Given the description of an element on the screen output the (x, y) to click on. 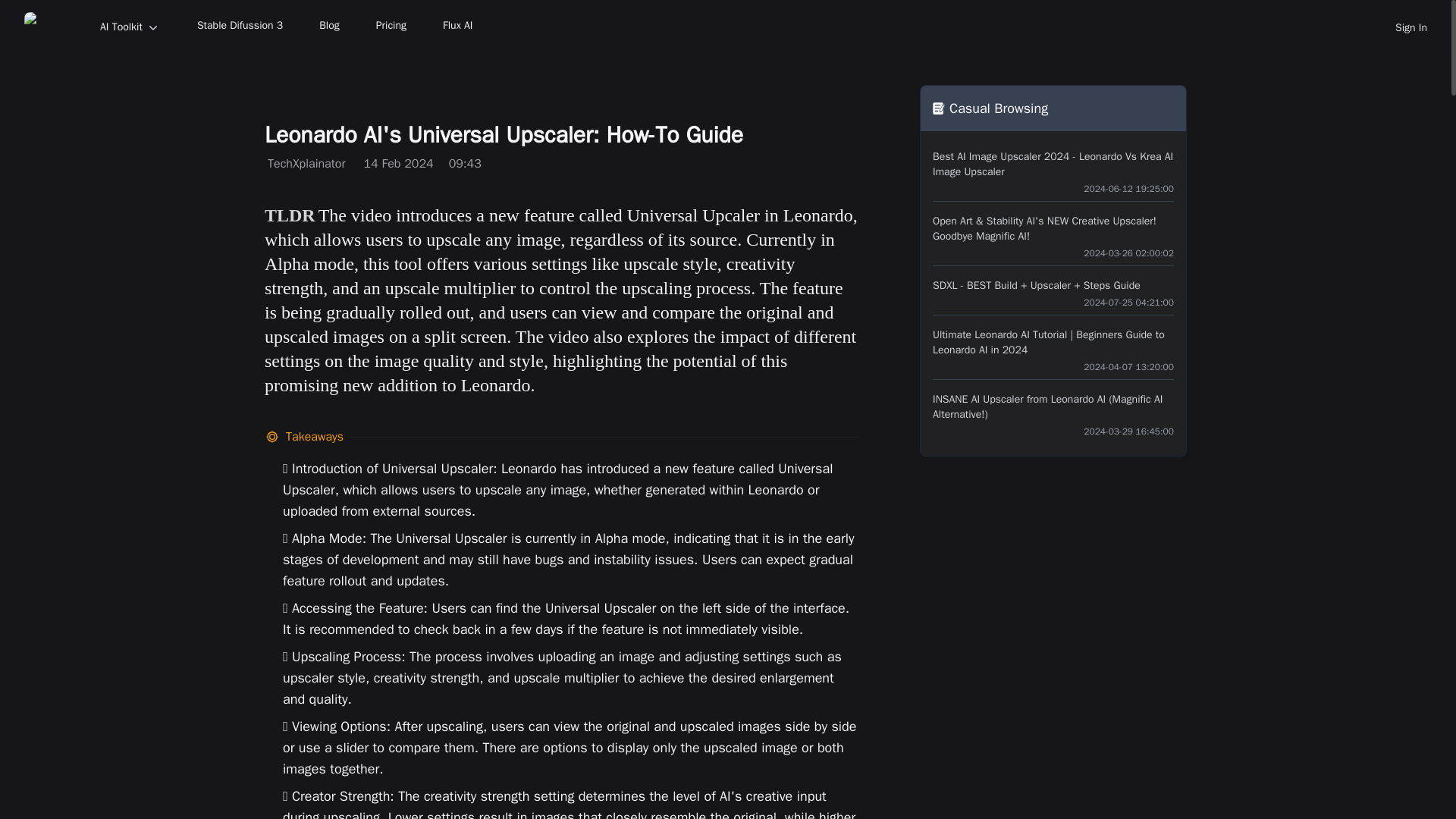
AI Toolkit (130, 27)
Stable Difussion 3 (239, 27)
Pricing (390, 27)
Sign In (1410, 27)
Flux AI (457, 27)
Blog (329, 27)
